Given the description of an element on the screen output the (x, y) to click on. 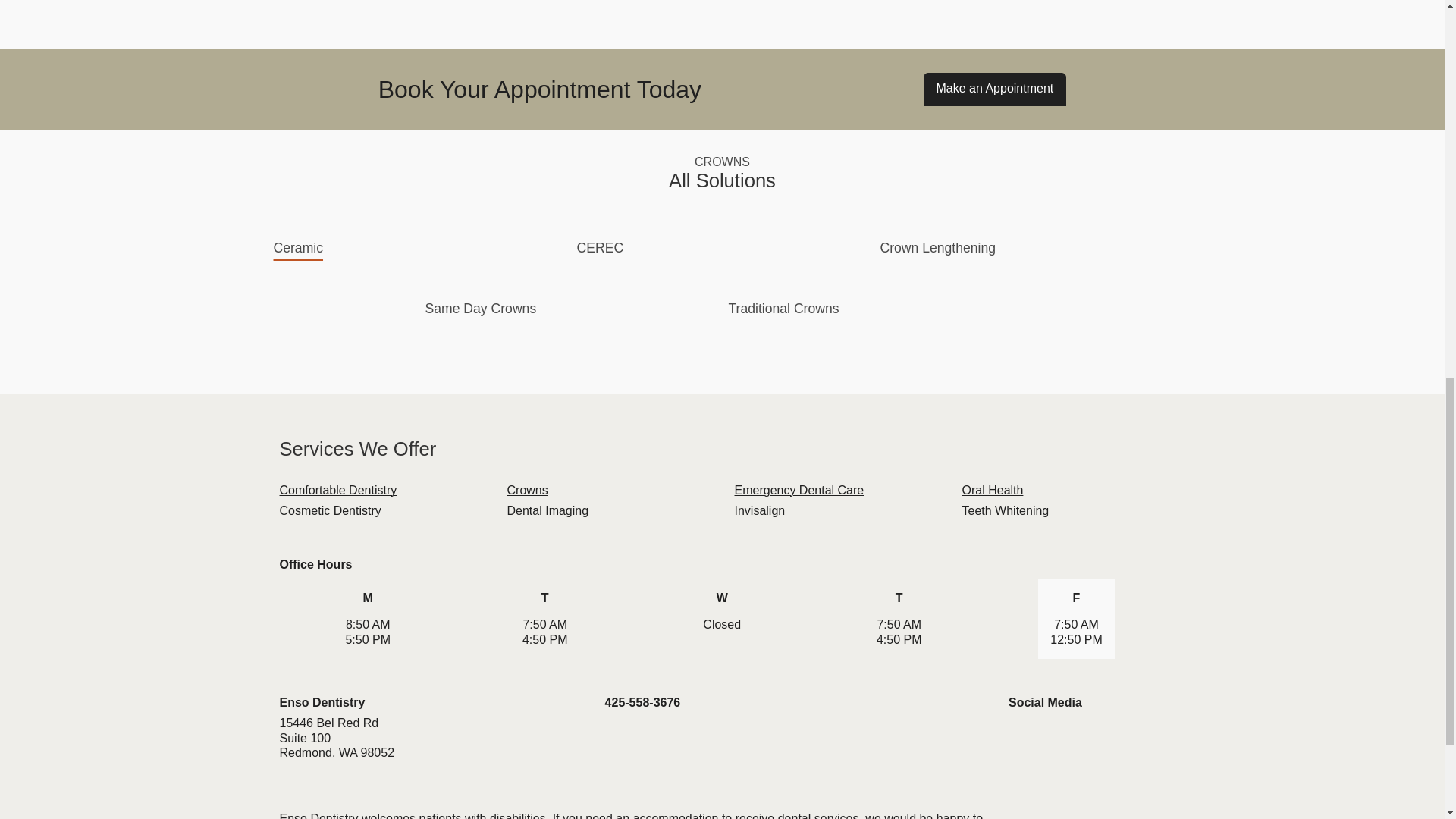
Invisalign (758, 510)
Instagram (1075, 735)
Comfortable Dentistry (337, 490)
Make an Appointment (995, 88)
Ceramic (298, 247)
Emergency Dental Care (798, 490)
Same Day Crowns (481, 308)
Twitter (1047, 735)
Facebook (1020, 735)
Crowns (526, 490)
Crown Lengthening (937, 247)
Cosmetic Dentistry (329, 510)
425-558-3676 (643, 702)
Dental Imaging (547, 510)
Traditional Crowns (783, 308)
